Given the description of an element on the screen output the (x, y) to click on. 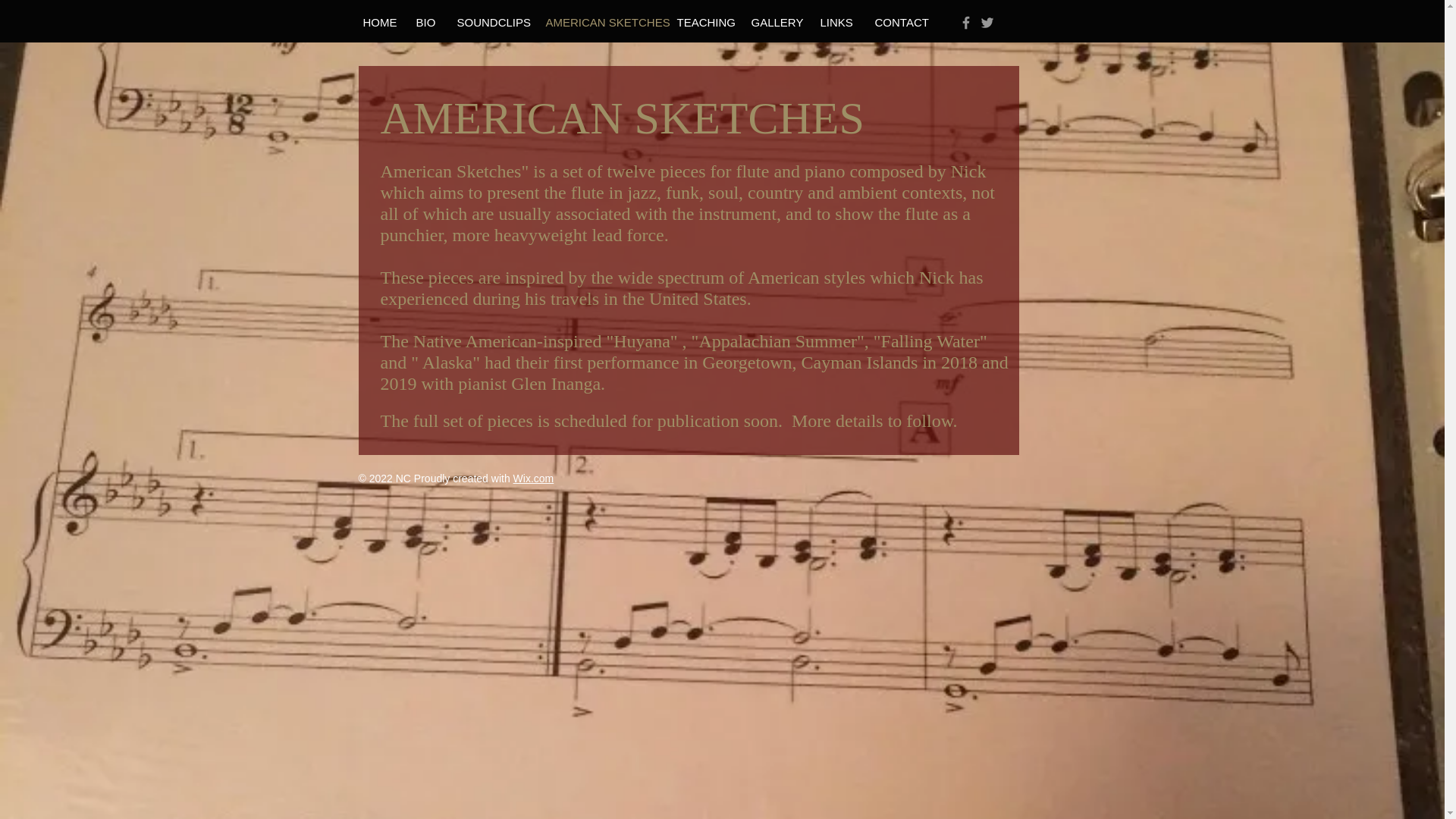
TEACHING (700, 22)
GALLERY (773, 22)
BIO (423, 22)
CONTACT (897, 22)
AMERICAN SKETCHES (599, 22)
Wix.com (533, 478)
SOUNDCLIPS (488, 22)
LINKS (835, 22)
HOME (376, 22)
